Given the description of an element on the screen output the (x, y) to click on. 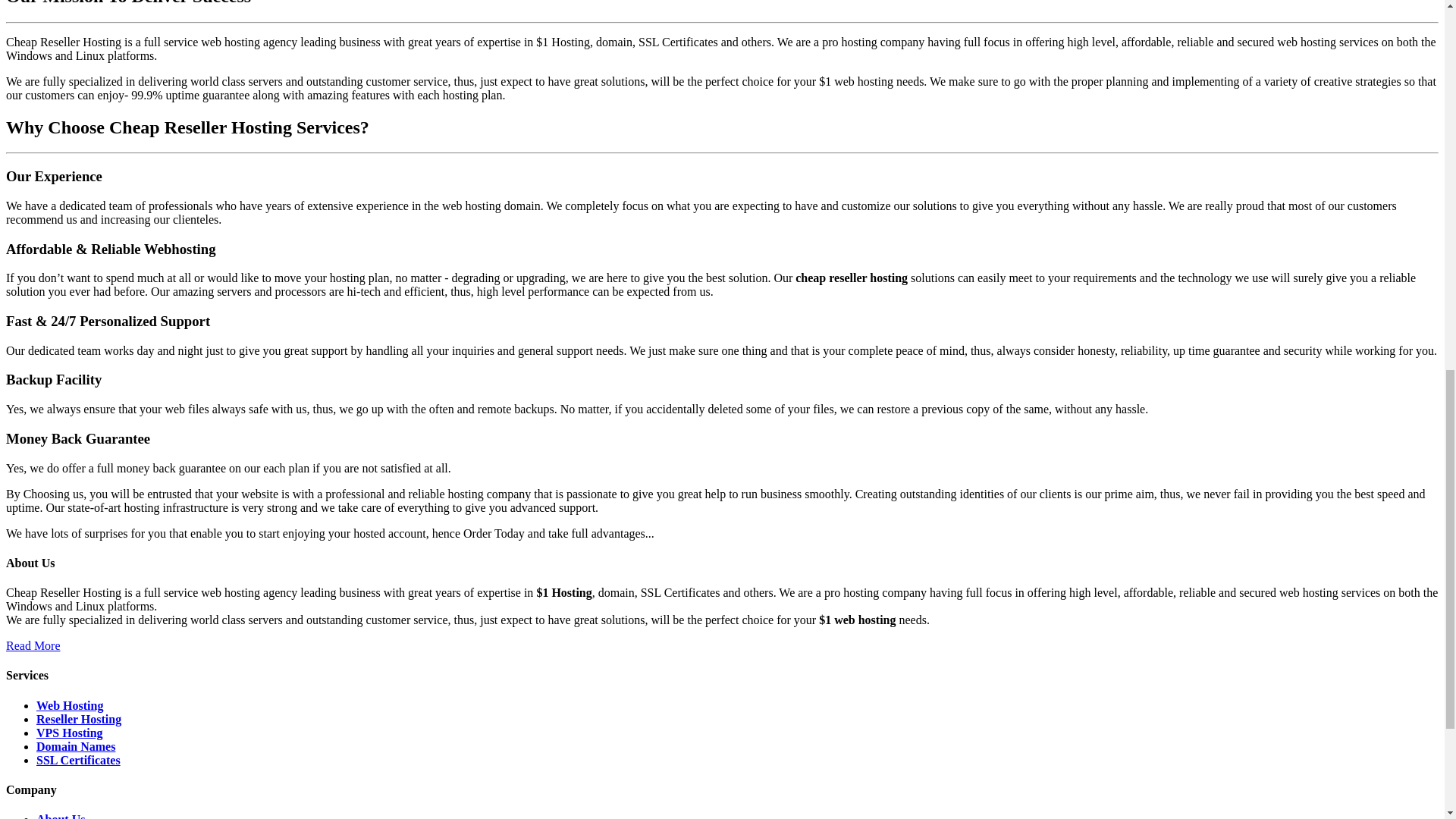
Reseller Hosting (78, 718)
Read More (33, 645)
Web Hosting (69, 705)
